Given the description of an element on the screen output the (x, y) to click on. 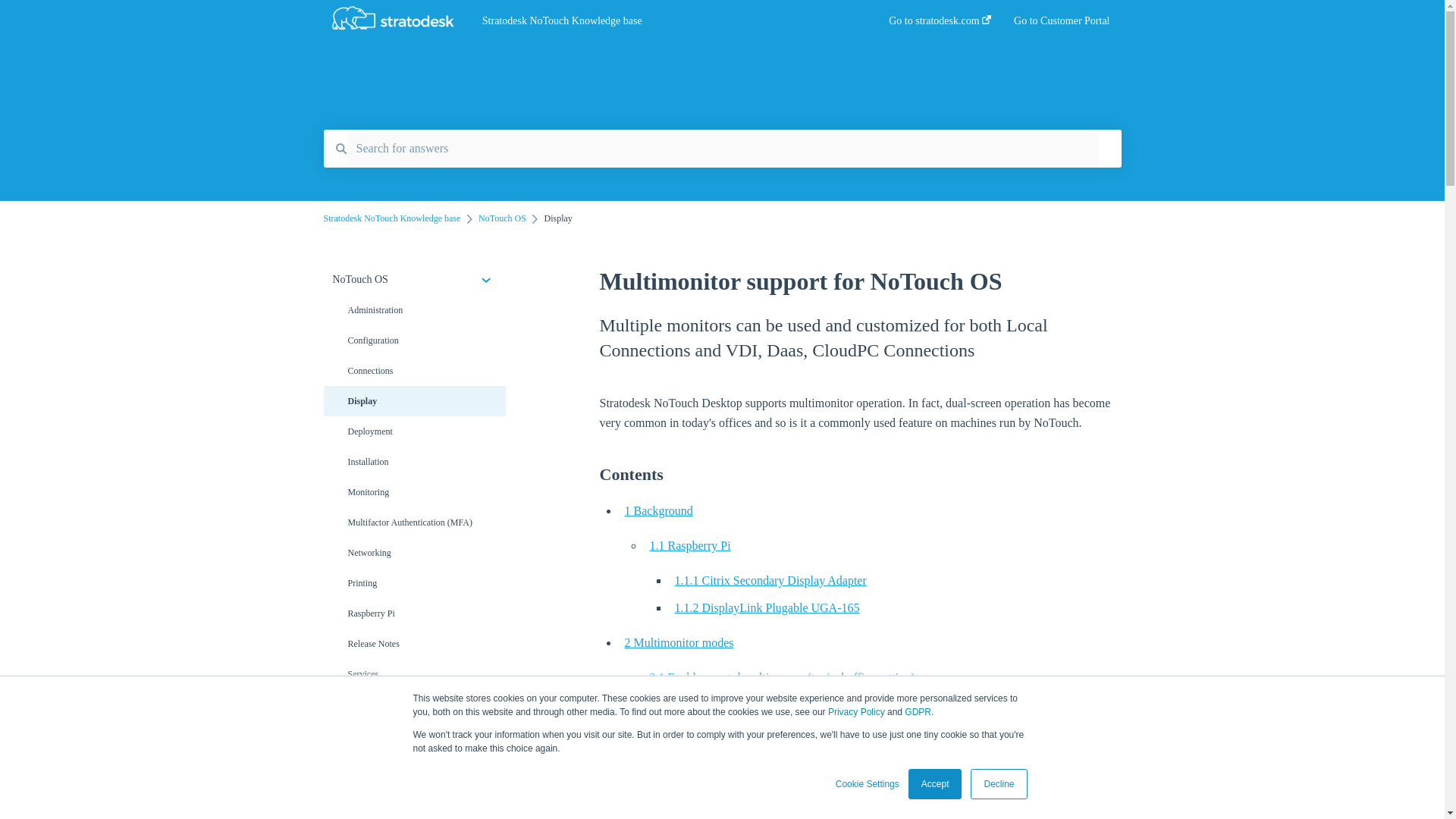
Privacy Policy (856, 711)
Cookie Settings (867, 784)
Accept (935, 784)
Go to Customer Portal (1061, 25)
Go to stratodesk.com (939, 25)
Decline (998, 784)
GDPR (917, 711)
Stratodesk NoTouch Knowledge base (662, 21)
